Given the description of an element on the screen output the (x, y) to click on. 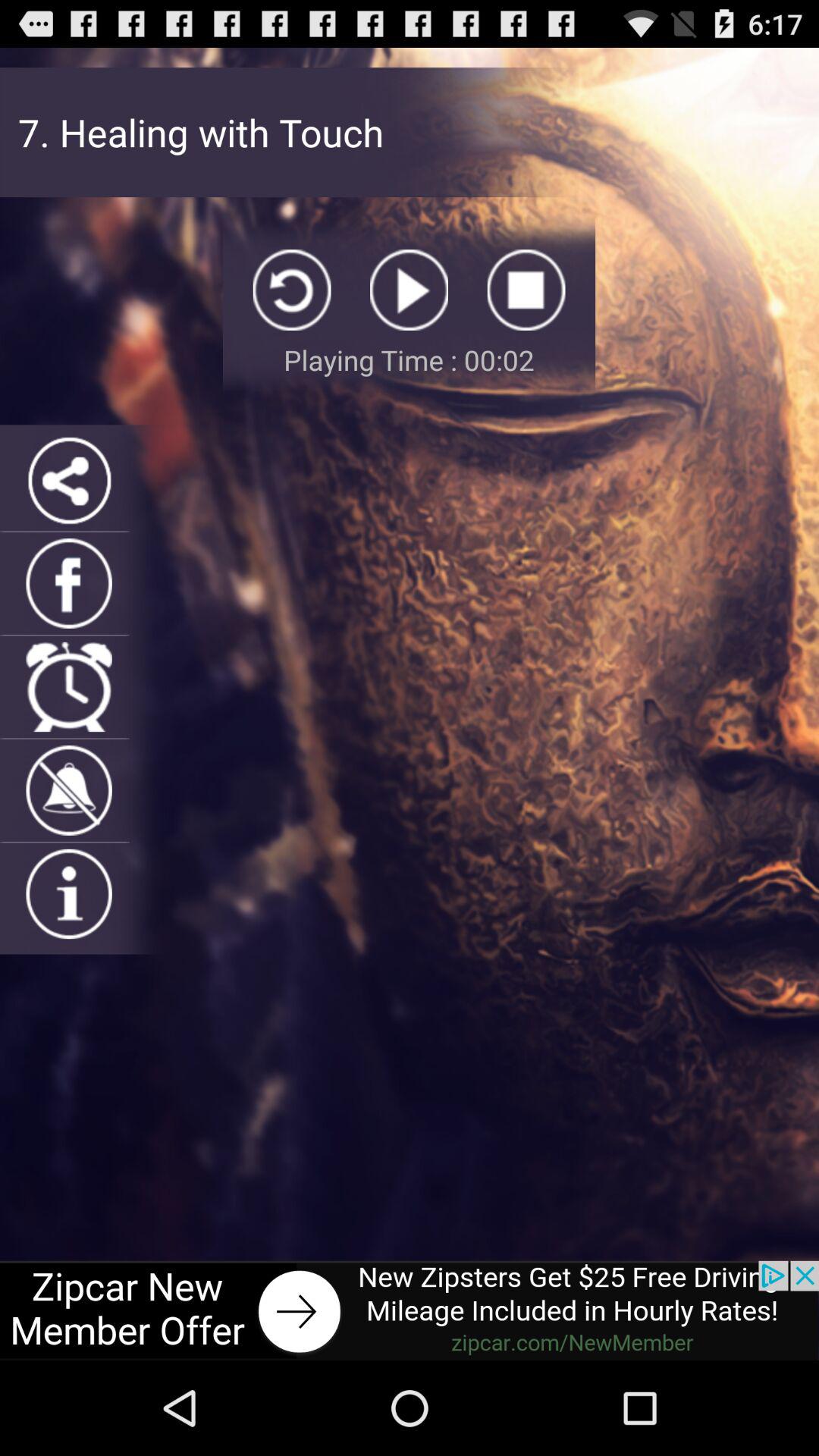
stop option (526, 289)
